Given the description of an element on the screen output the (x, y) to click on. 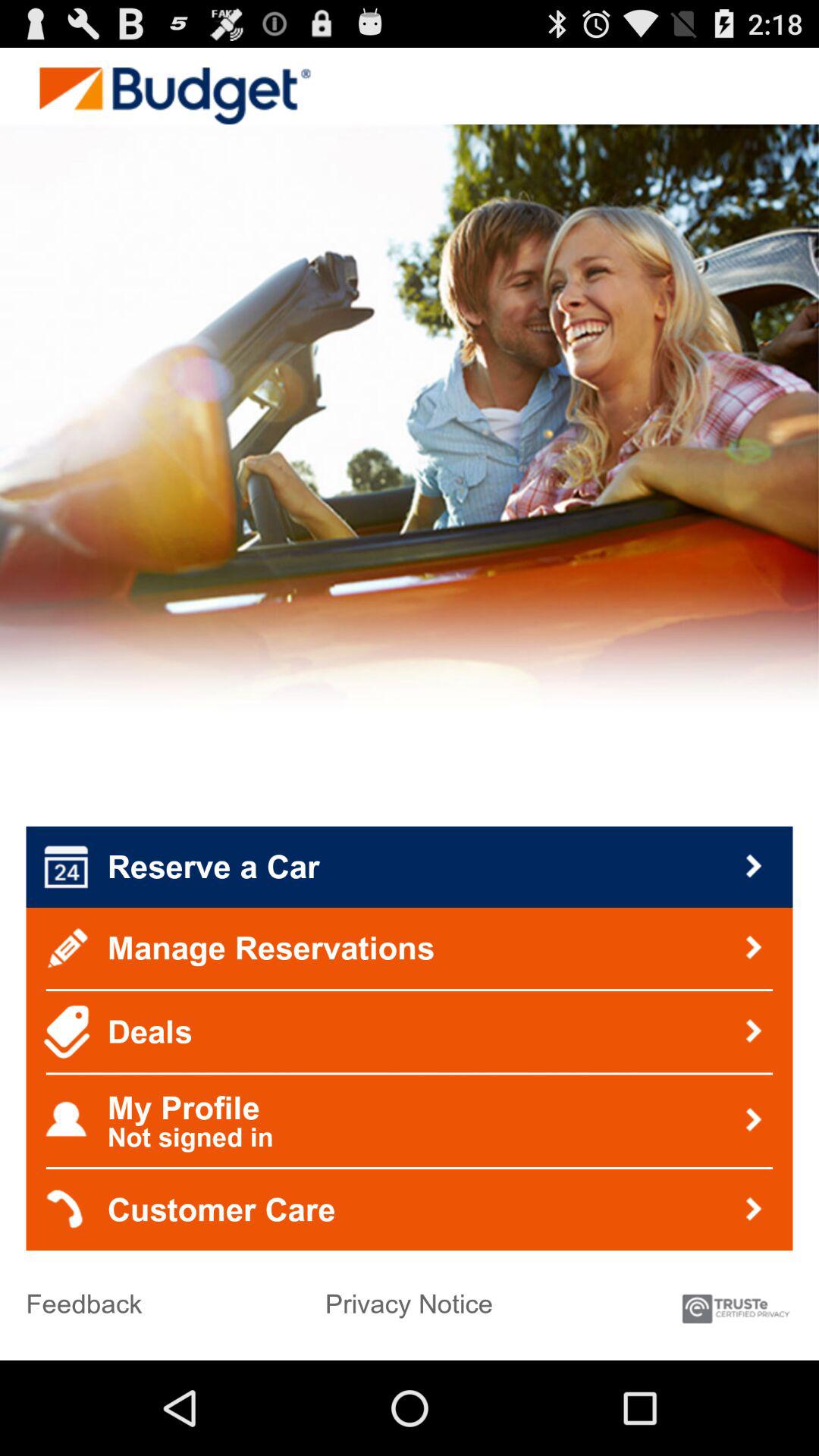
swipe to the privacy notice icon (409, 1297)
